Given the description of an element on the screen output the (x, y) to click on. 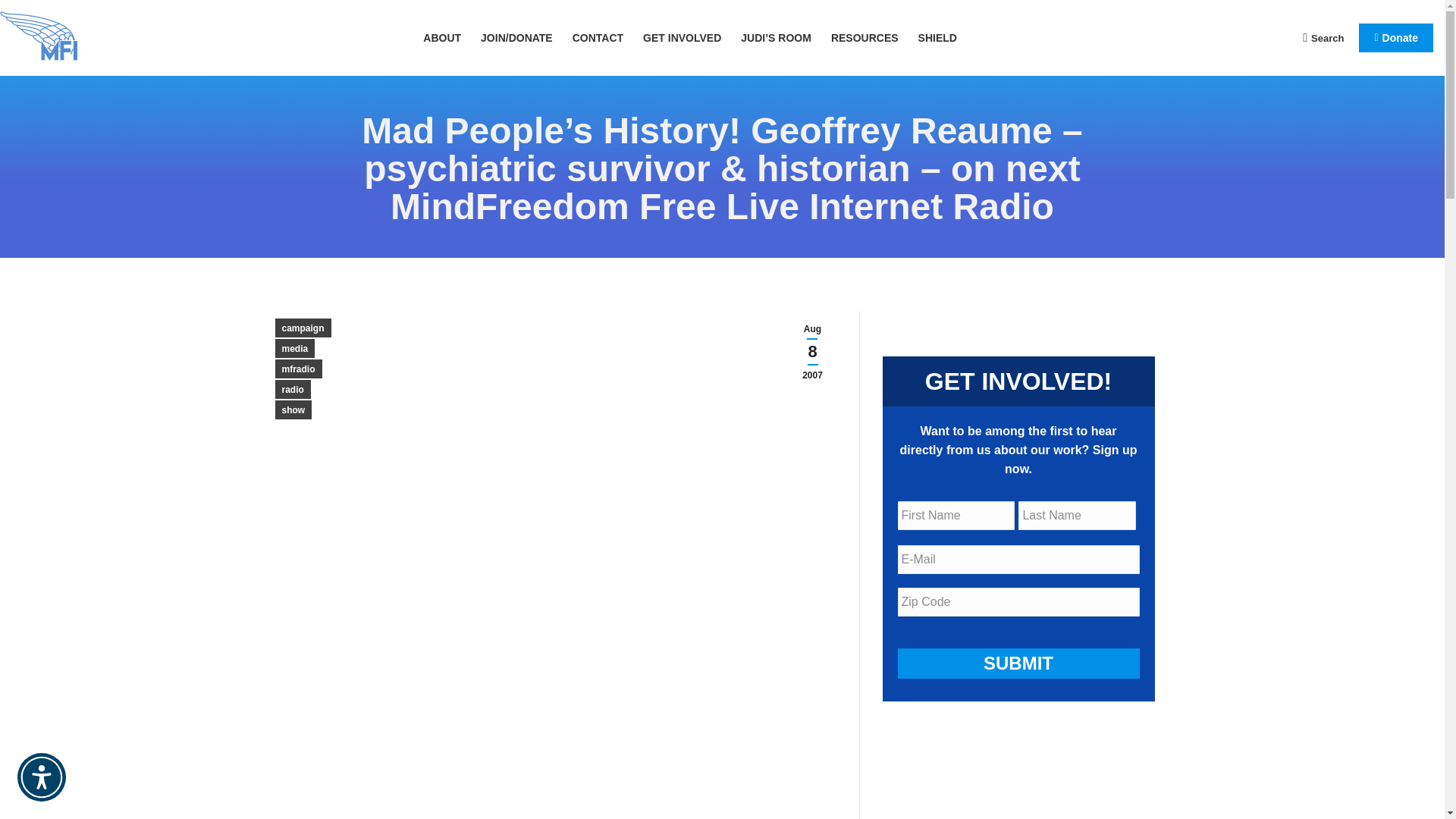
Submit (1019, 663)
GET INVOLVED (681, 37)
CONTACT (597, 37)
Accessibility Menu (41, 776)
RESOURCES (864, 37)
